Given the description of an element on the screen output the (x, y) to click on. 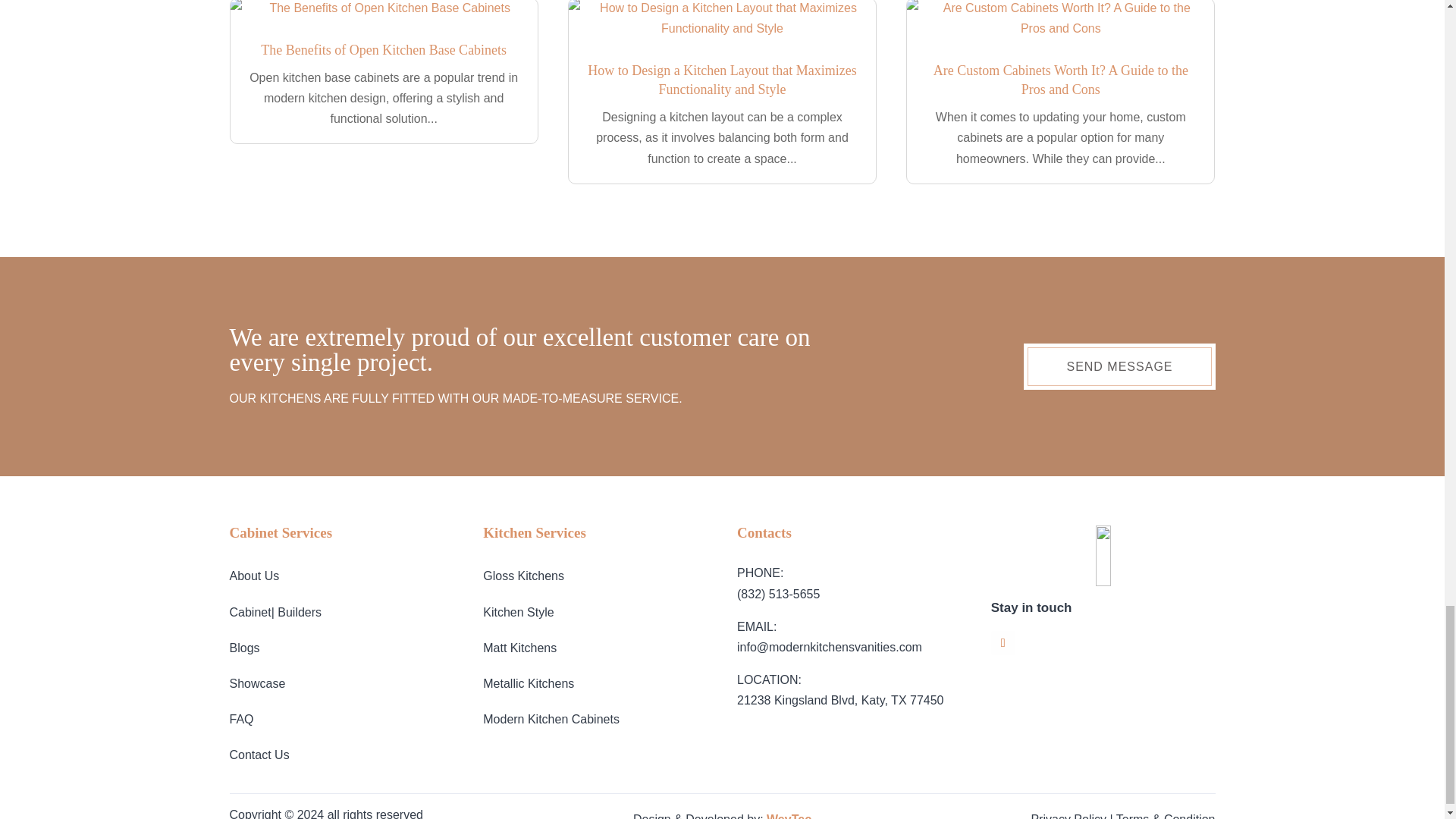
modern-logo Bold (1102, 555)
Are Custom Cabinets Worth It? A Guide to the Pros and Cons (1060, 80)
Follow on Facebook (1002, 642)
The Benefits of Open Kitchen Base Cabinets (383, 49)
